Given the description of an element on the screen output the (x, y) to click on. 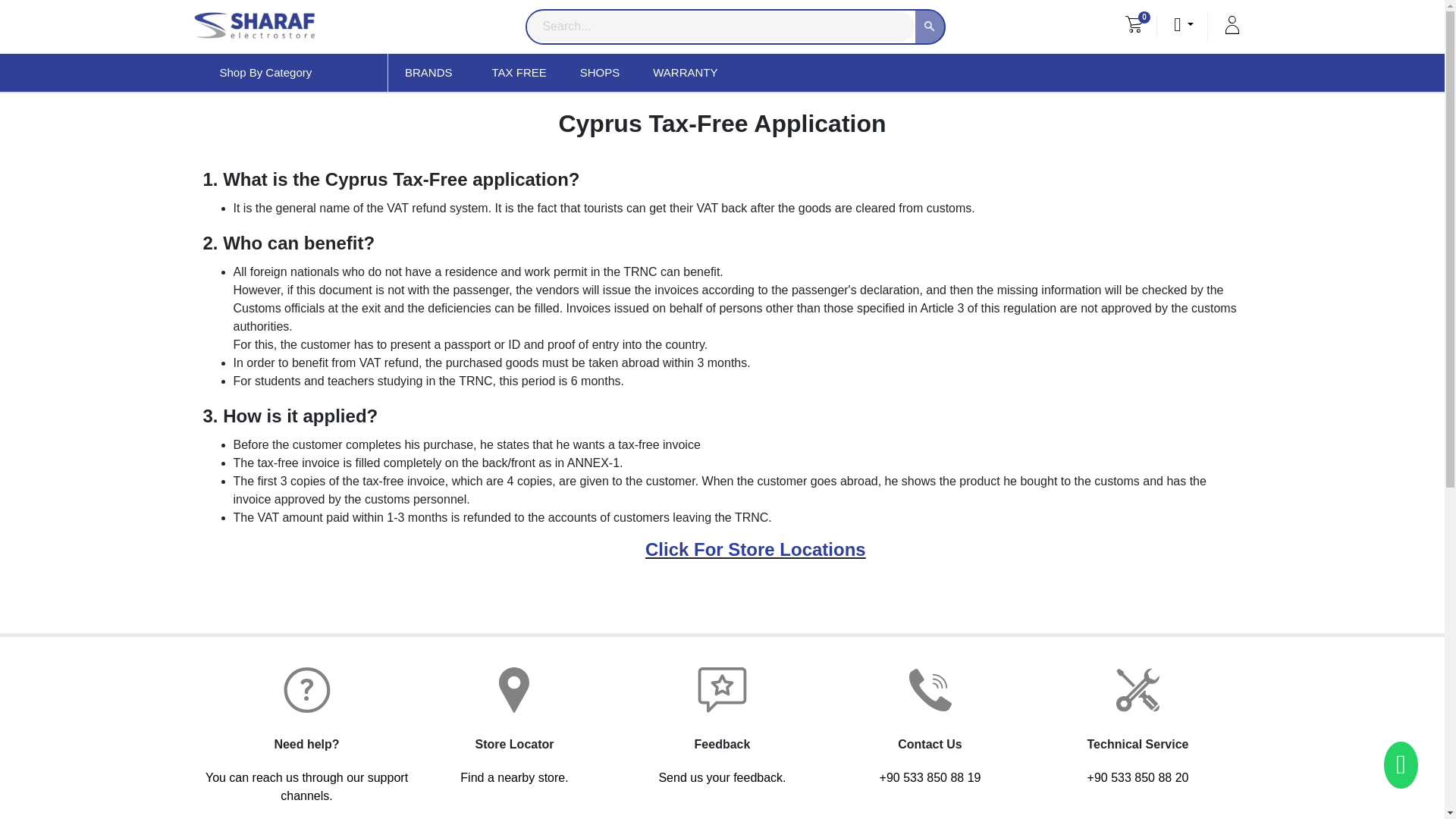
WARRANTY (684, 72)
TAX FREE (518, 72)
Search (929, 26)
Shop By Category (295, 72)
Sharaf Electro Store (253, 26)
SHOPS (600, 72)
BRANDS (432, 72)
